Given the description of an element on the screen output the (x, y) to click on. 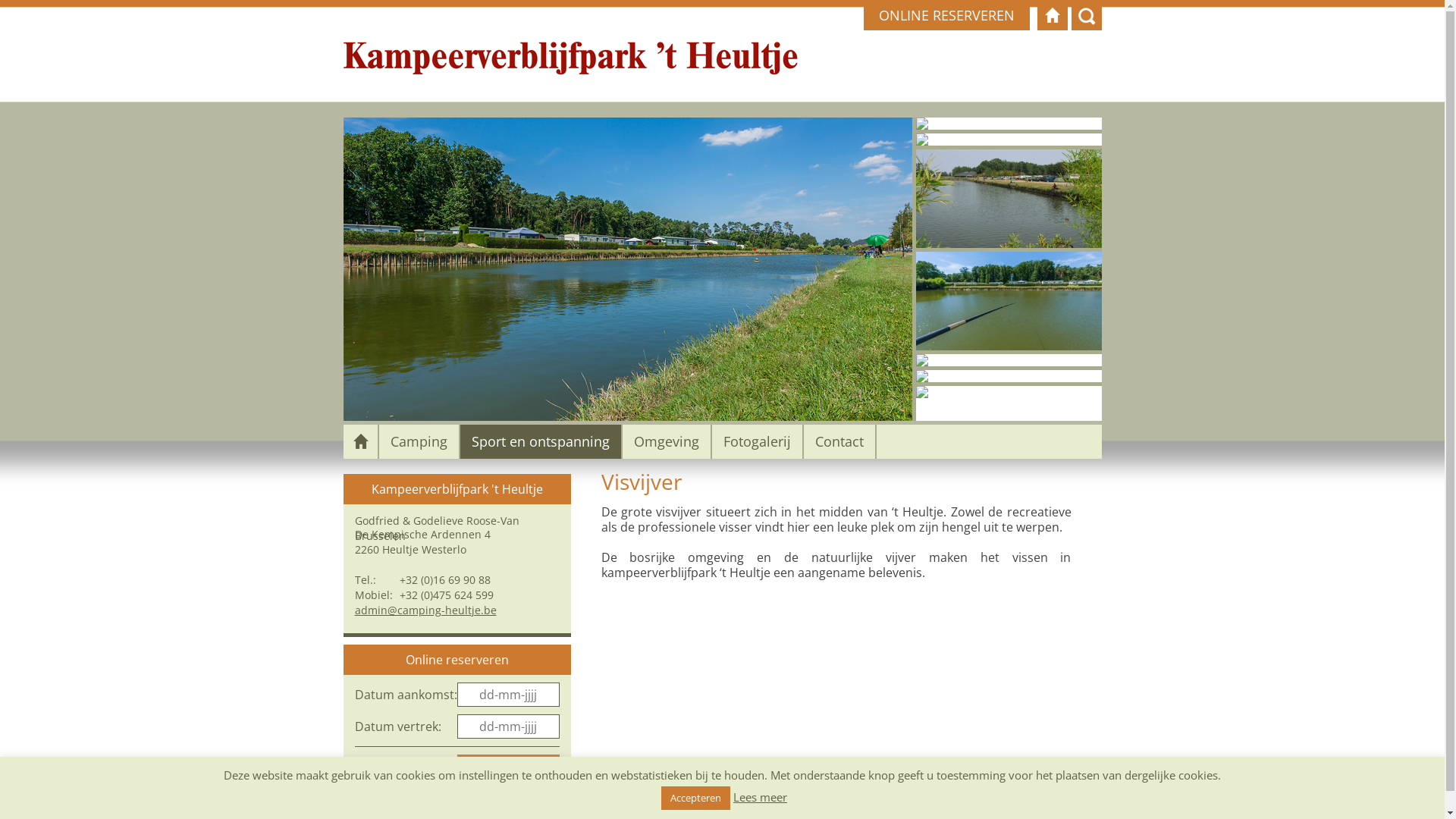
Accepteren Element type: text (695, 797)
  Element type: hover (1008, 390)
  Element type: hover (1008, 196)
  Element type: hover (1008, 300)
  Element type: hover (1008, 123)
  Element type: hover (922, 123)
  Element type: hover (1008, 198)
  Element type: hover (922, 391)
  Element type: hover (1008, 358)
Startpagina Element type: text (1052, 15)
Camping Element type: text (418, 441)
ONLINE RESERVEREN Element type: text (945, 15)
Reserveren Element type: text (507, 765)
Lees meer Element type: text (760, 796)
Omgeving Element type: text (665, 441)
Fotogalerij Element type: text (756, 441)
  Element type: hover (1008, 137)
Zoeken Element type: text (1085, 15)
Kampeerverblijfpark 't Heultje Element type: hover (569, 58)
  Element type: hover (1008, 298)
admin@camping-heultje.be Element type: text (425, 609)
  Element type: hover (922, 360)
  Element type: hover (922, 139)
Contact Element type: text (839, 441)
  Element type: hover (1008, 374)
Kampeerverblijfpark 't Heultje Element type: text (456, 488)
  Element type: hover (626, 268)
  Element type: hover (922, 376)
Sport en ontspanning Element type: text (539, 441)
